Given the description of an element on the screen output the (x, y) to click on. 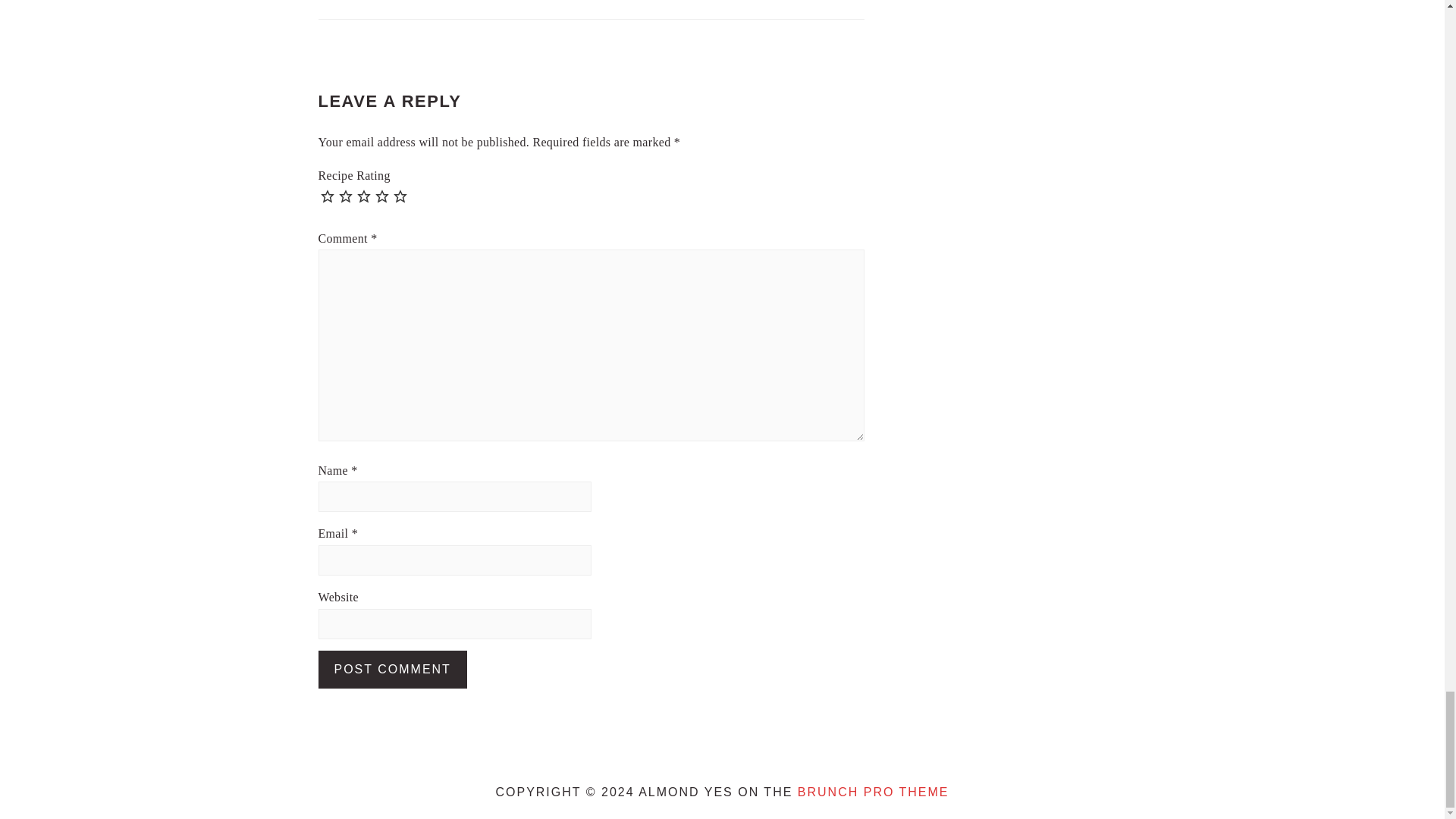
Post Comment (392, 669)
Post Comment (392, 669)
BRUNCH PRO THEME (873, 791)
